Given the description of an element on the screen output the (x, y) to click on. 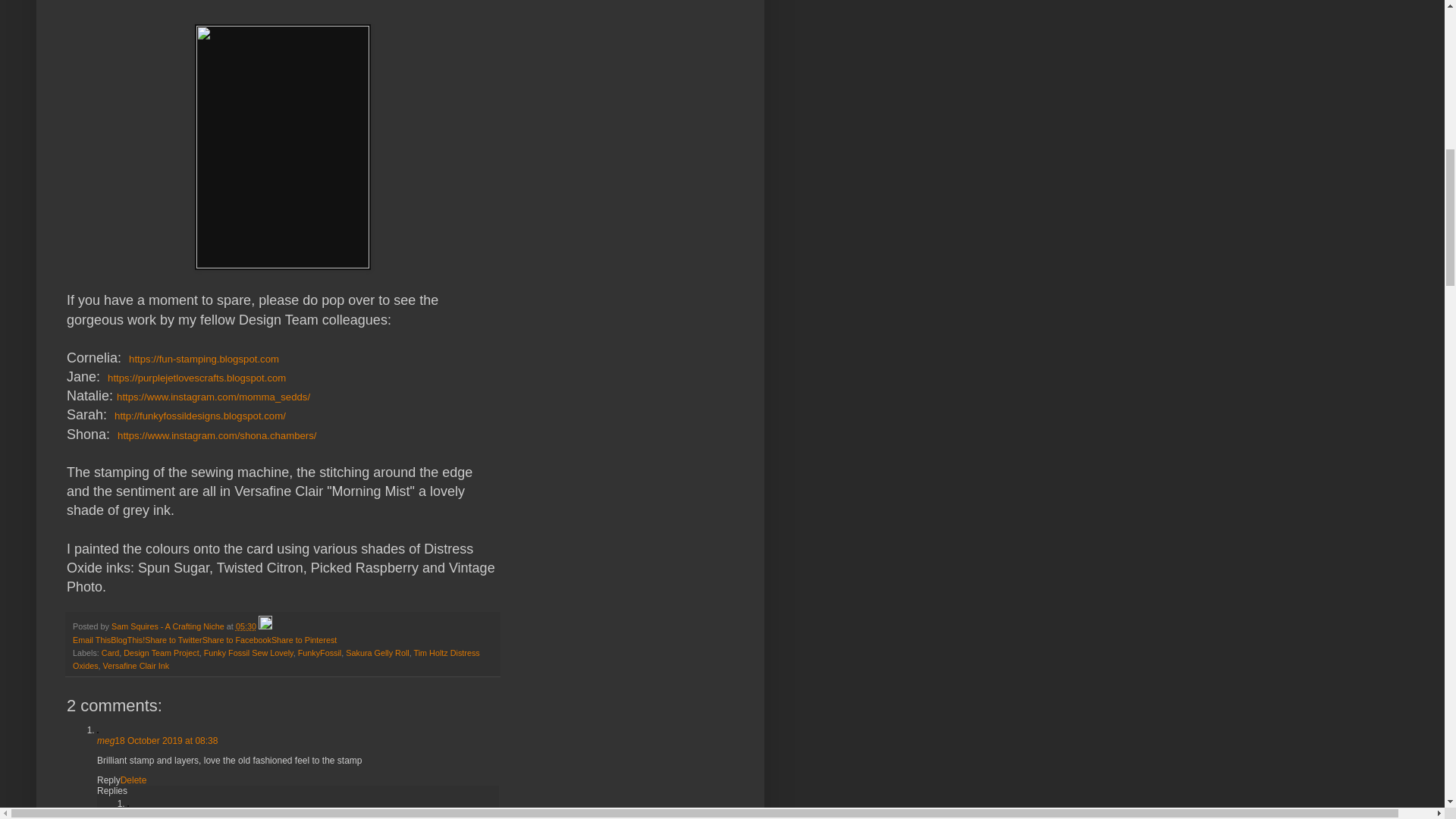
18 October 2019 at 15:00 (304, 814)
Tim Holtz Distress Oxides (276, 659)
Share to Twitter (173, 639)
05:30 (245, 625)
Versafine Clair Ink (136, 665)
Card (110, 652)
Share to Facebook (236, 639)
Share to Pinterest (303, 639)
FunkyFossil (320, 652)
Funky Fossil Sew Lovely (248, 652)
BlogThis! (127, 639)
permanent link (245, 625)
meg (106, 740)
Share to Pinterest (303, 639)
author profile (169, 625)
